Given the description of an element on the screen output the (x, y) to click on. 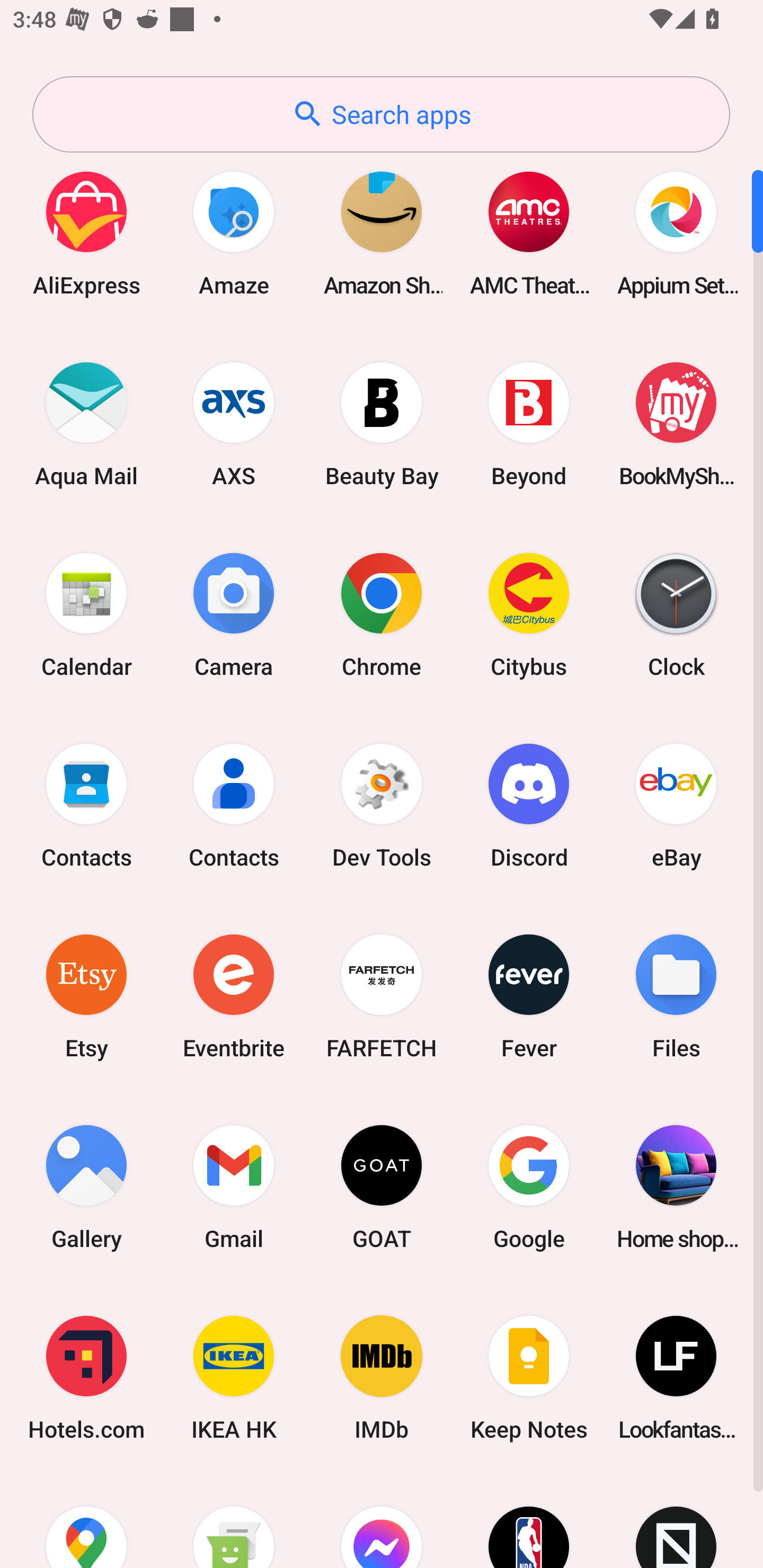
  Search apps (381, 114)
AliExpress (86, 233)
Amaze (233, 233)
Amazon Shopping (381, 233)
AMC Theatres (528, 233)
Appium Settings (676, 233)
Aqua Mail (86, 424)
AXS (233, 424)
Beauty Bay (381, 424)
Beyond (528, 424)
BookMyShow (676, 424)
Calendar (86, 614)
Camera (233, 614)
Chrome (381, 614)
Citybus (528, 614)
Clock (676, 614)
Contacts (86, 805)
Contacts (233, 805)
Dev Tools (381, 805)
Discord (528, 805)
eBay (676, 805)
Etsy (86, 996)
Eventbrite (233, 996)
FARFETCH (381, 996)
Fever (528, 996)
Files (676, 996)
Gallery (86, 1186)
Gmail (233, 1186)
GOAT (381, 1186)
Google (528, 1186)
Home shopping (676, 1186)
Hotels.com (86, 1377)
IKEA HK (233, 1377)
IMDb (381, 1377)
Keep Notes (528, 1377)
Lookfantastic (676, 1377)
Maps (86, 1520)
Messaging (233, 1520)
Messenger (381, 1520)
NBA (528, 1520)
Novelship (676, 1520)
